Given the description of an element on the screen output the (x, y) to click on. 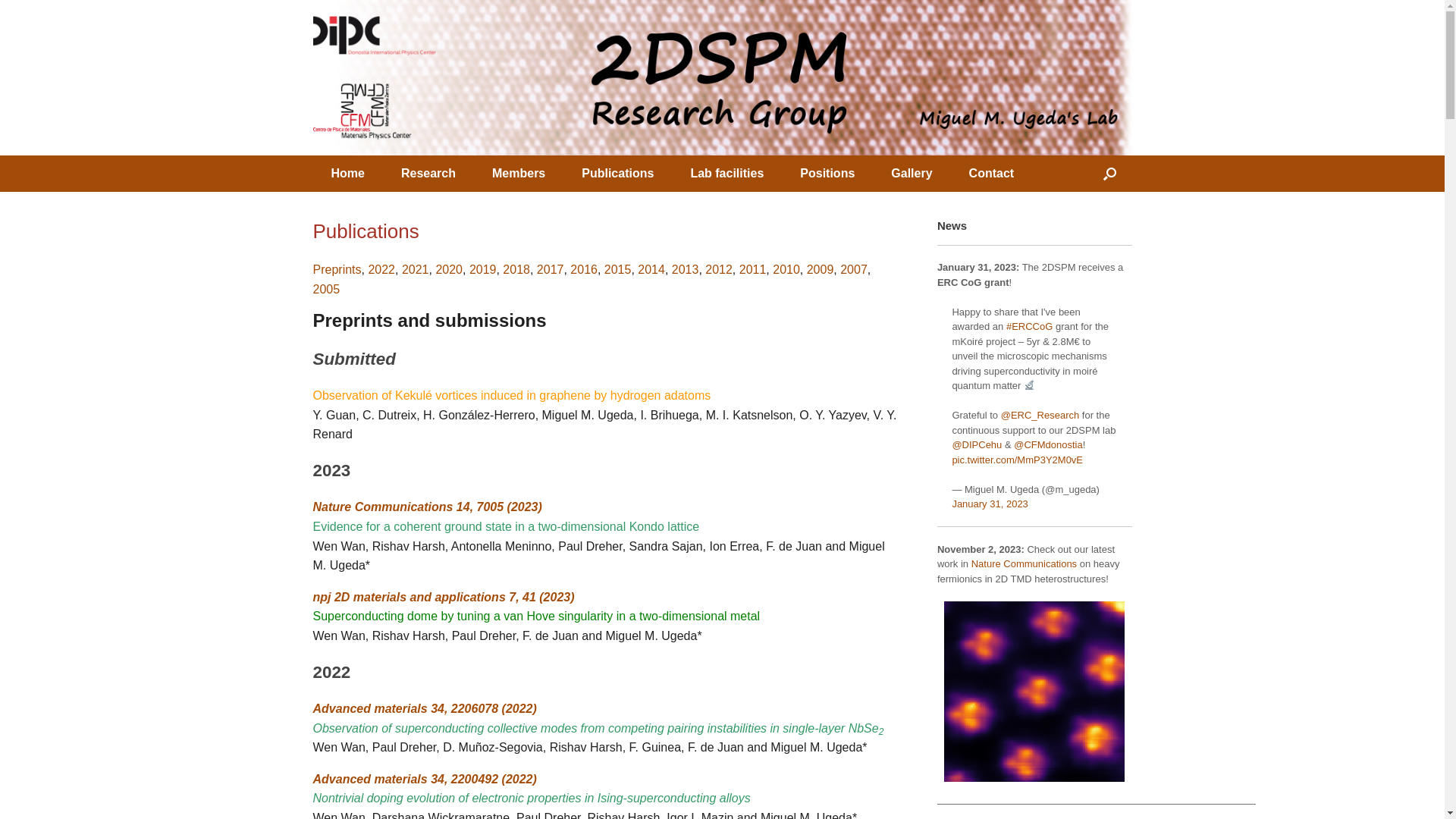
2012 Element type: text (718, 269)
Gallery Element type: text (911, 173)
npj 2D materials and applications 7, 41 (2023) Element type: text (443, 596)
pic.twitter.com/MmP3Y2M0vE Element type: text (1016, 458)
Advanced materials 34, 2206078 (2022) Element type: text (424, 708)
#ERCCoG Element type: text (1029, 326)
2017 Element type: text (550, 269)
2019 Element type: text (482, 269)
2011 Element type: text (752, 269)
2009 Element type: text (820, 269)
Publications Element type: text (617, 173)
2007 Element type: text (853, 269)
@CFMdonostia Element type: text (1047, 444)
Positions Element type: text (826, 173)
2022 Element type: text (381, 269)
Advanced materials 34, 2200492 (2022) Element type: text (424, 778)
Members Element type: text (518, 173)
2005 Element type: text (325, 288)
2018 Element type: text (516, 269)
Nature Communications 14, 7005 (2023) Element type: text (426, 506)
2020 Element type: text (448, 269)
2016 Element type: text (583, 269)
2021 Element type: text (415, 269)
@ERC_Research Element type: text (1040, 414)
Nature Communications Element type: text (1023, 563)
Contact Element type: text (991, 173)
January 31, 2023 Element type: text (989, 503)
2010 Element type: text (786, 269)
Preprints Element type: text (336, 269)
Lab facilities Element type: text (726, 173)
2013 Element type: text (685, 269)
Home Element type: text (347, 173)
@DIPCehu Element type: text (976, 444)
2014 Element type: text (651, 269)
2015 Element type: text (617, 269)
Research Element type: text (427, 173)
